Given the description of an element on the screen output the (x, y) to click on. 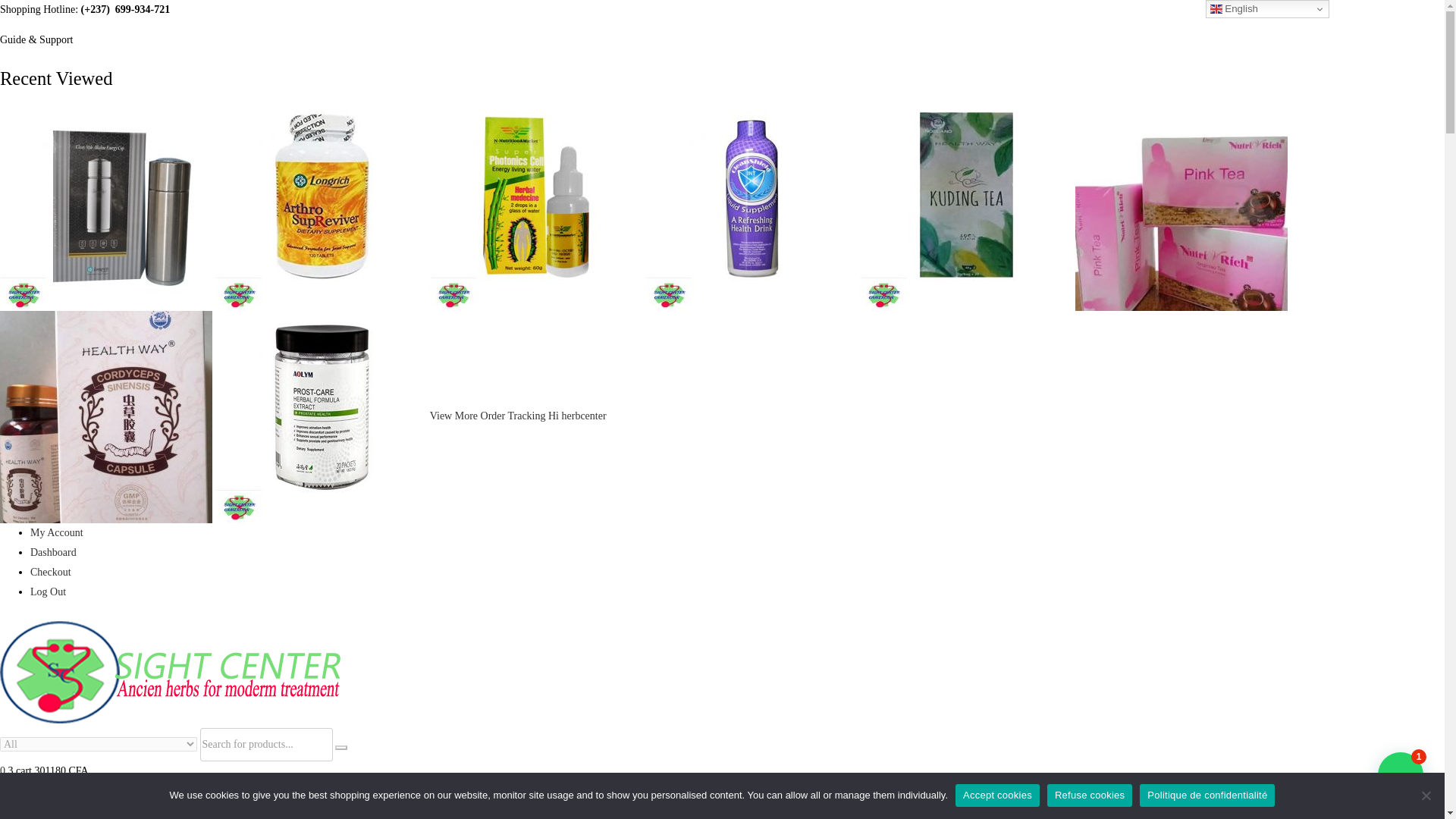
Cordyceps Sinesis capsules (107, 415)
Cleanshield (752, 203)
Alkaline Energy Cup (107, 203)
KUDING TEA (967, 203)
Super Photonics Cells (537, 203)
Arthro SupReviver (322, 203)
